Given the description of an element on the screen output the (x, y) to click on. 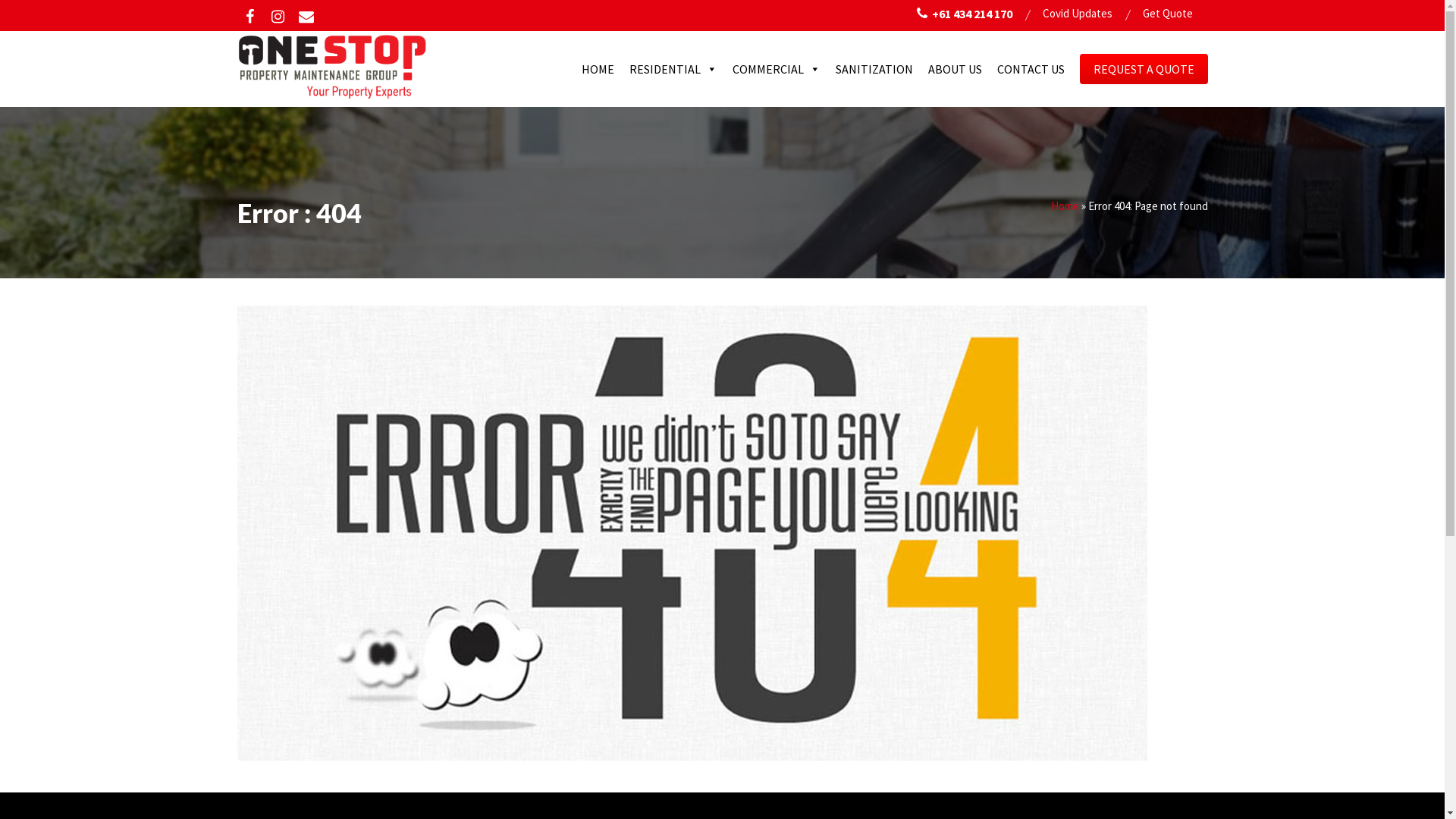
CONTACT US Element type: text (1029, 68)
+61 434 214 170 Element type: text (963, 13)
Covid Updates Element type: text (1076, 13)
COMMERCIAL Element type: text (776, 68)
ABOUT US Element type: text (954, 68)
Home Element type: text (1065, 205)
REQUEST A QUOTE Element type: text (1143, 68)
RESIDENTIAL Element type: text (672, 68)
Get Quote Element type: text (1167, 13)
HOME Element type: text (597, 68)
SANITIZATION Element type: text (874, 68)
